Given the description of an element on the screen output the (x, y) to click on. 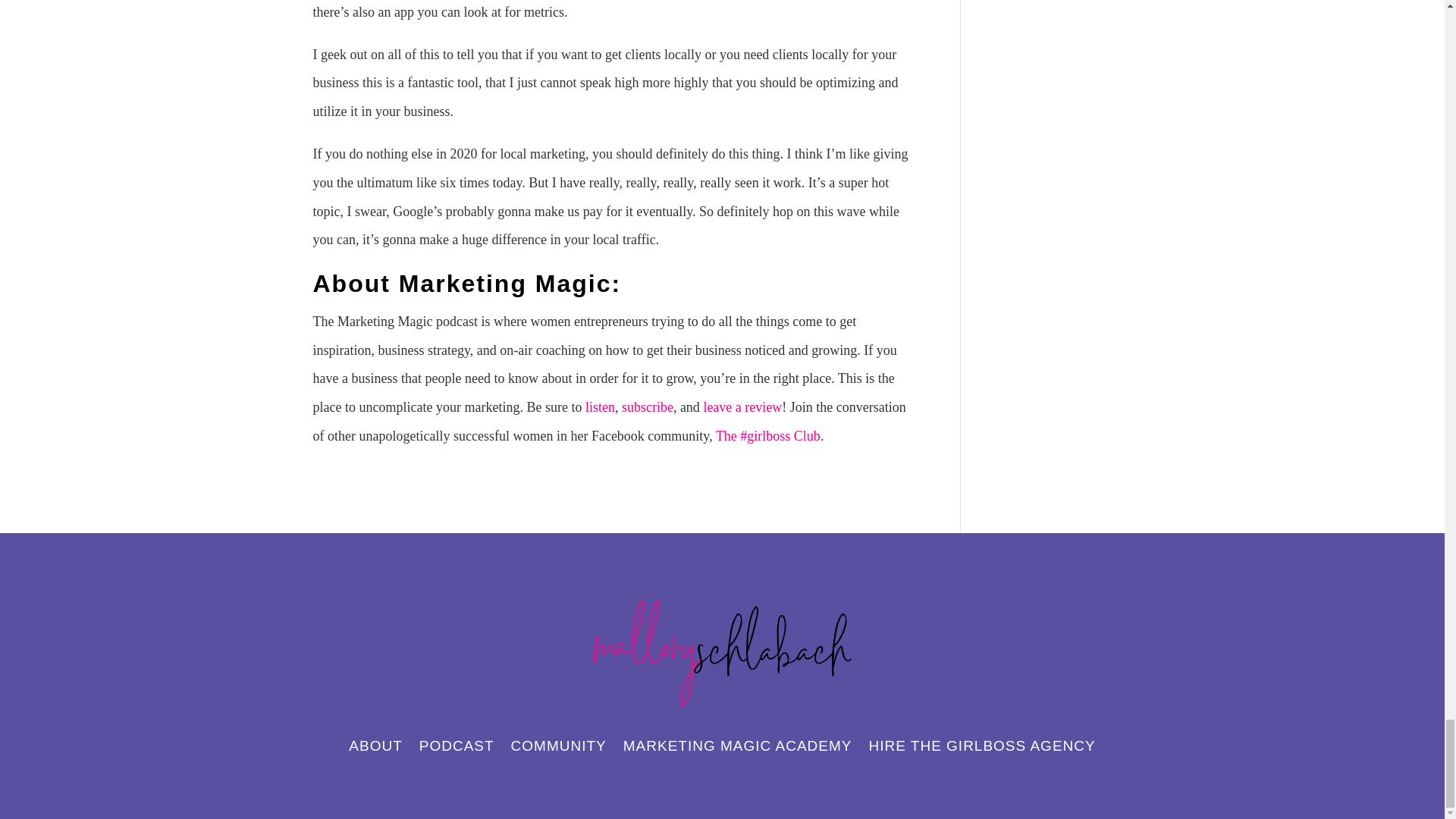
leave a review (742, 406)
subscribe (646, 406)
mallorysignature-big (722, 653)
listen (599, 406)
